Given the description of an element on the screen output the (x, y) to click on. 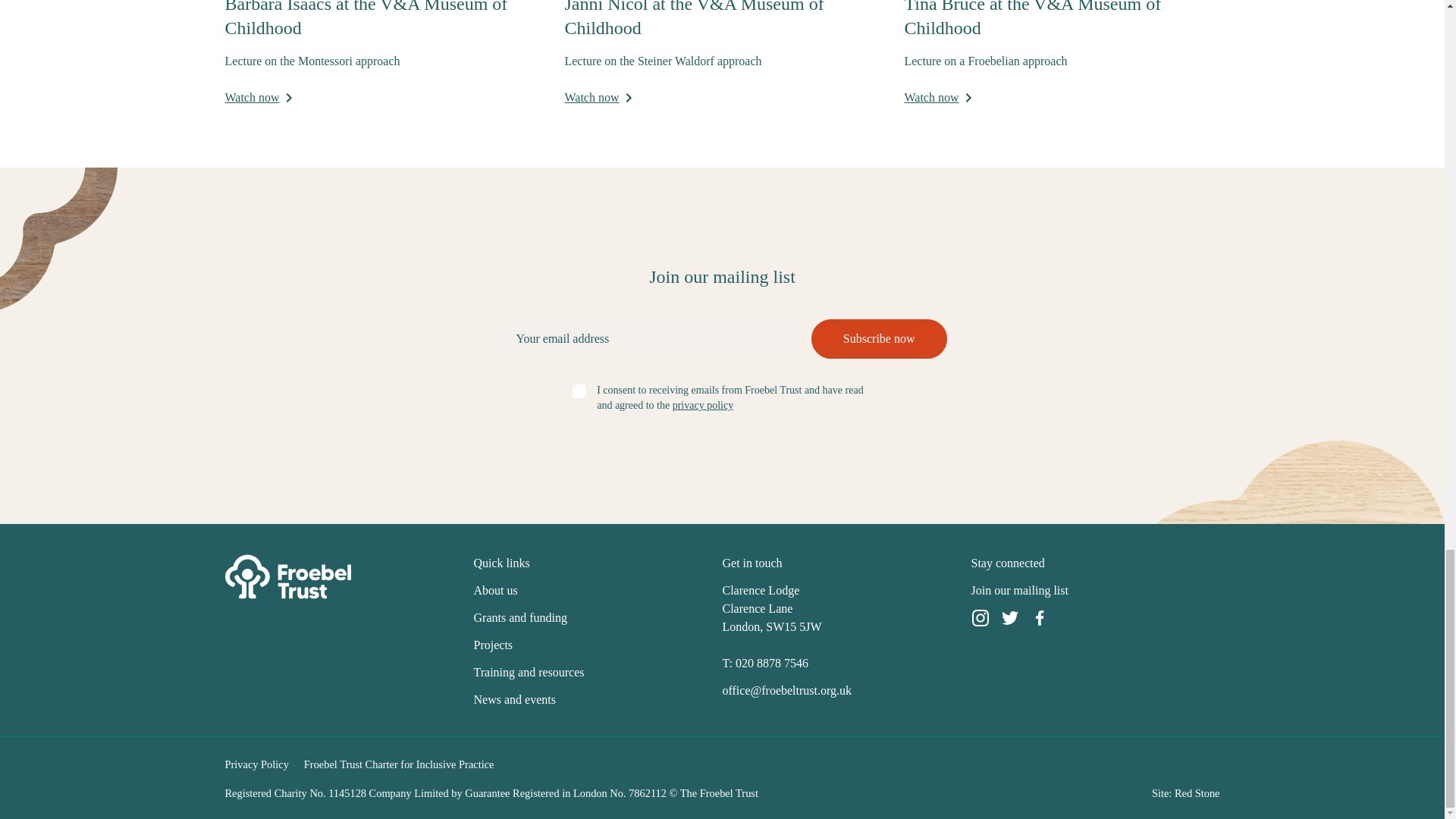
Read more of Watch now (937, 97)
Subscribe now (878, 338)
Read more of Watch now (597, 97)
Read more of Watch now (258, 97)
